Given the description of an element on the screen output the (x, y) to click on. 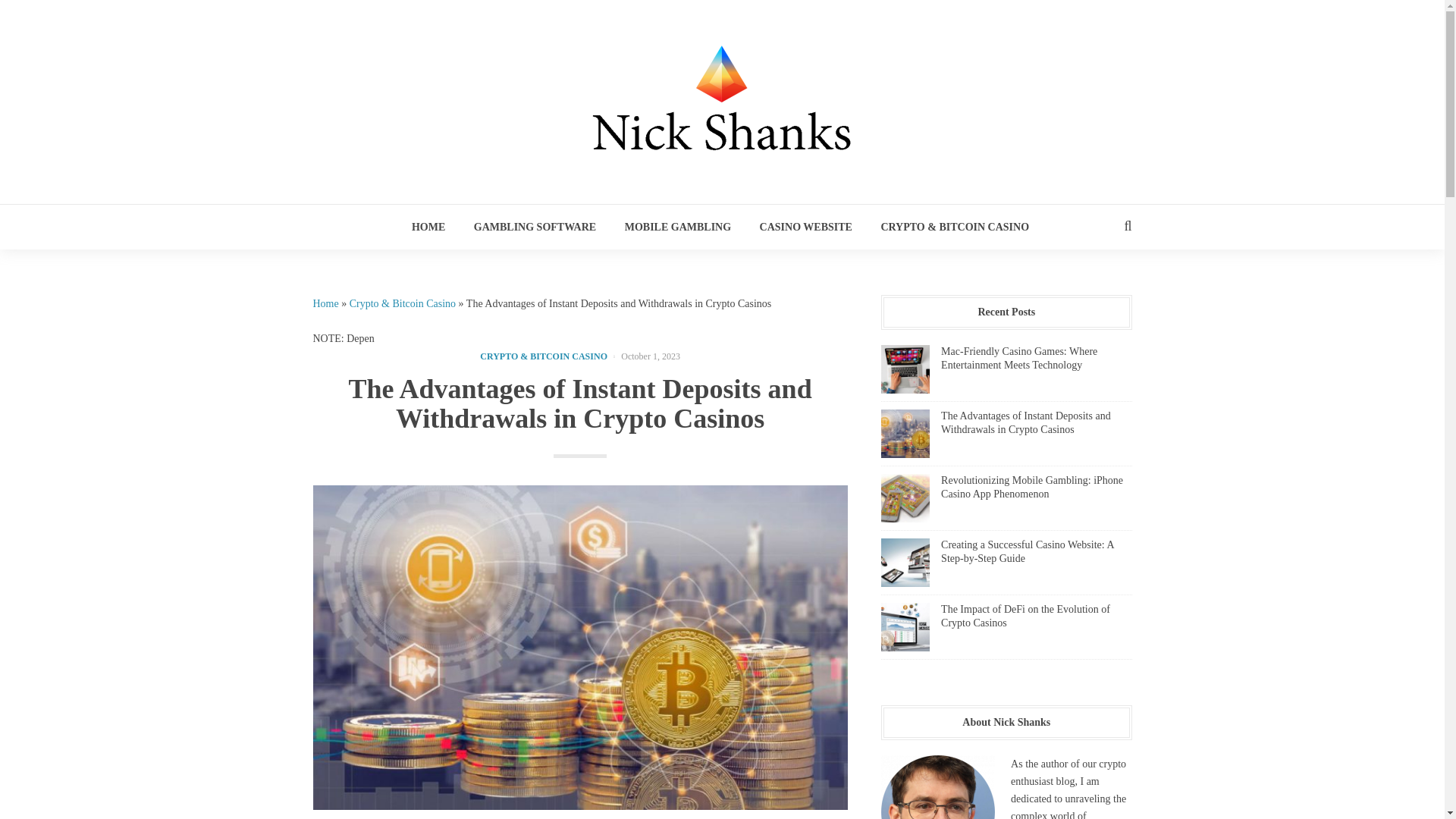
The Impact of DeFi on the Evolution of Crypto Casinos (1024, 615)
HOME (428, 226)
Home (325, 303)
Creating a Successful Casino Website: A Step-by-Step Guide (1026, 551)
GAMBLING SOFTWARE (534, 226)
MOBILE GAMBLING (677, 226)
CASINO WEBSITE (806, 226)
